Given the description of an element on the screen output the (x, y) to click on. 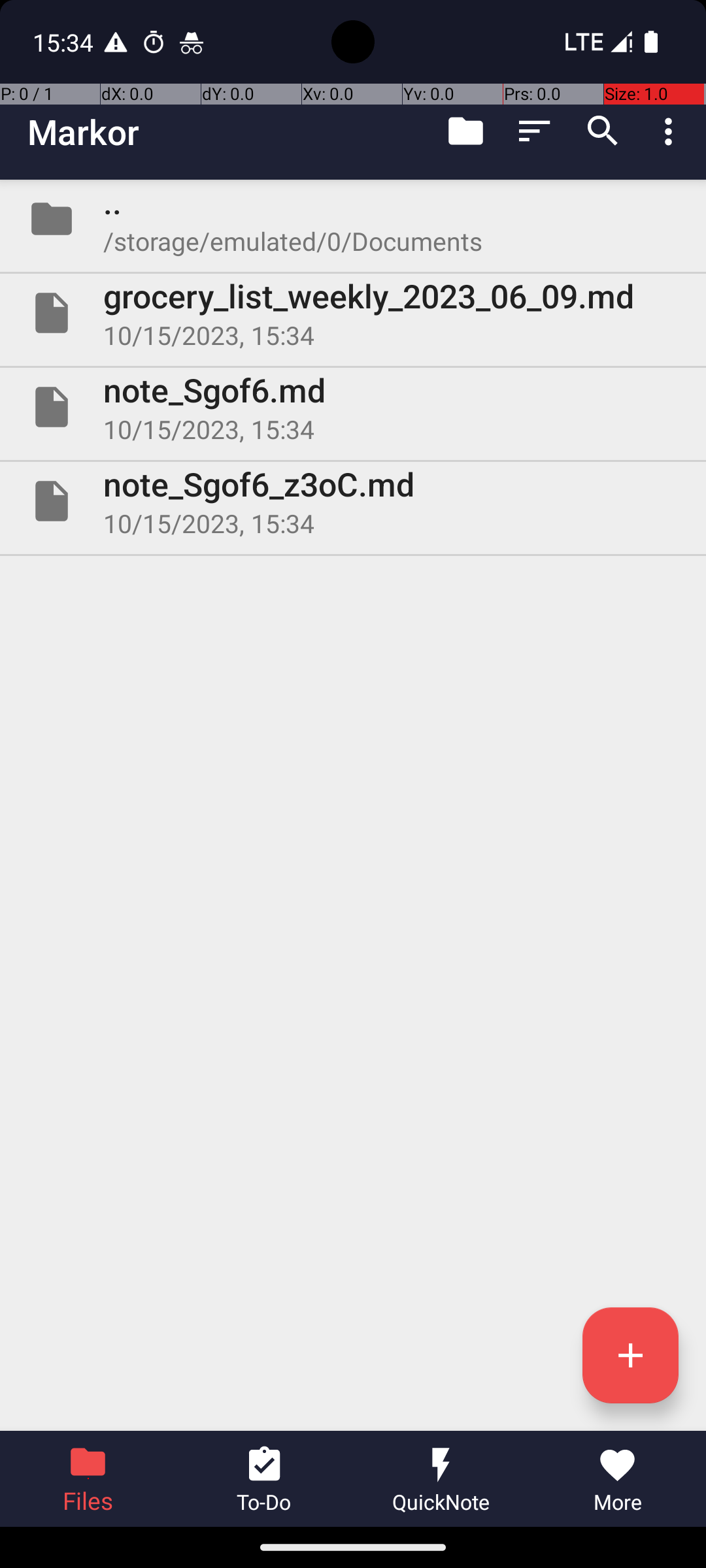
File grocery_list_weekly_2023_06_09.md  Element type: android.widget.LinearLayout (353, 312)
File note_Sgof6.md  Element type: android.widget.LinearLayout (353, 406)
File note_Sgof6_z3oC.md  Element type: android.widget.LinearLayout (353, 500)
